Given the description of an element on the screen output the (x, y) to click on. 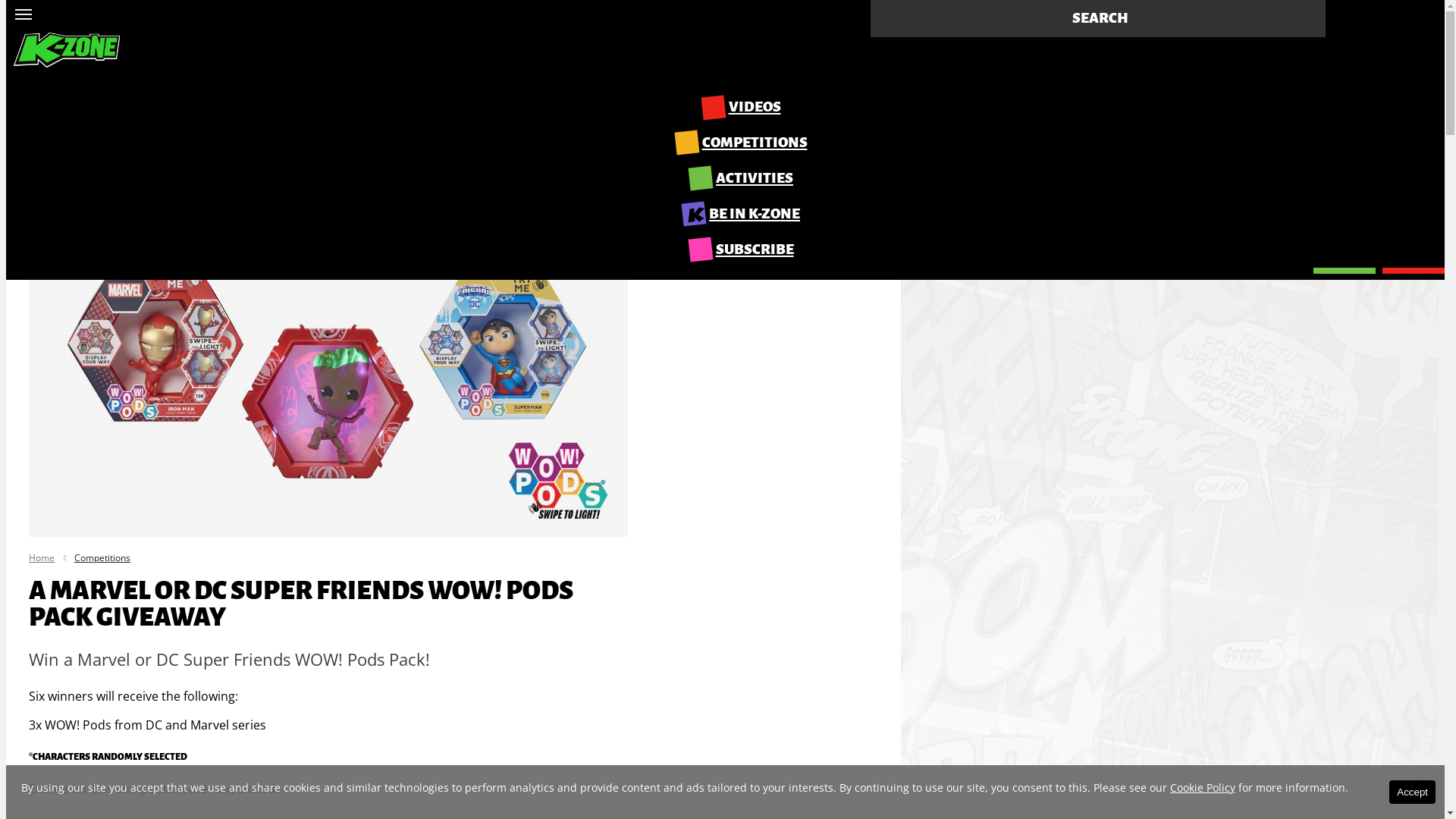
SEND Element type: text (1161, 70)
Competitions Element type: text (102, 557)
Accept Element type: text (1412, 791)
Cookie Policy Element type: text (1202, 787)
SIGN UP Element type: text (1413, 255)
Home Element type: text (41, 557)
LOG IN Element type: text (1344, 255)
